Given the description of an element on the screen output the (x, y) to click on. 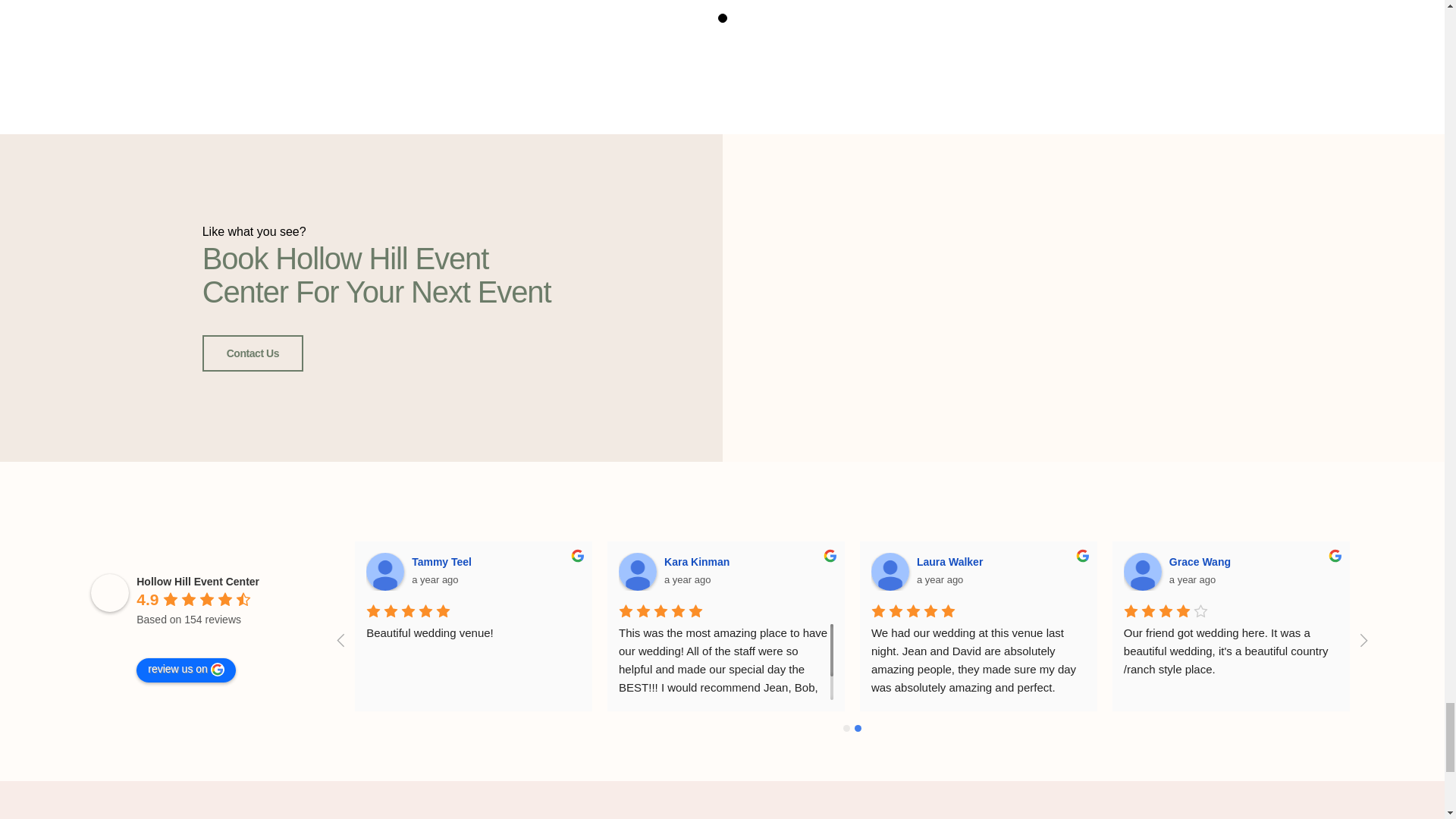
Grace Wang (1142, 571)
Hollow Hill Event Center (109, 592)
Tammy Teel (385, 571)
powered by Google (191, 638)
Laura Walker (889, 571)
Kara Kinman (637, 571)
